Given the description of an element on the screen output the (x, y) to click on. 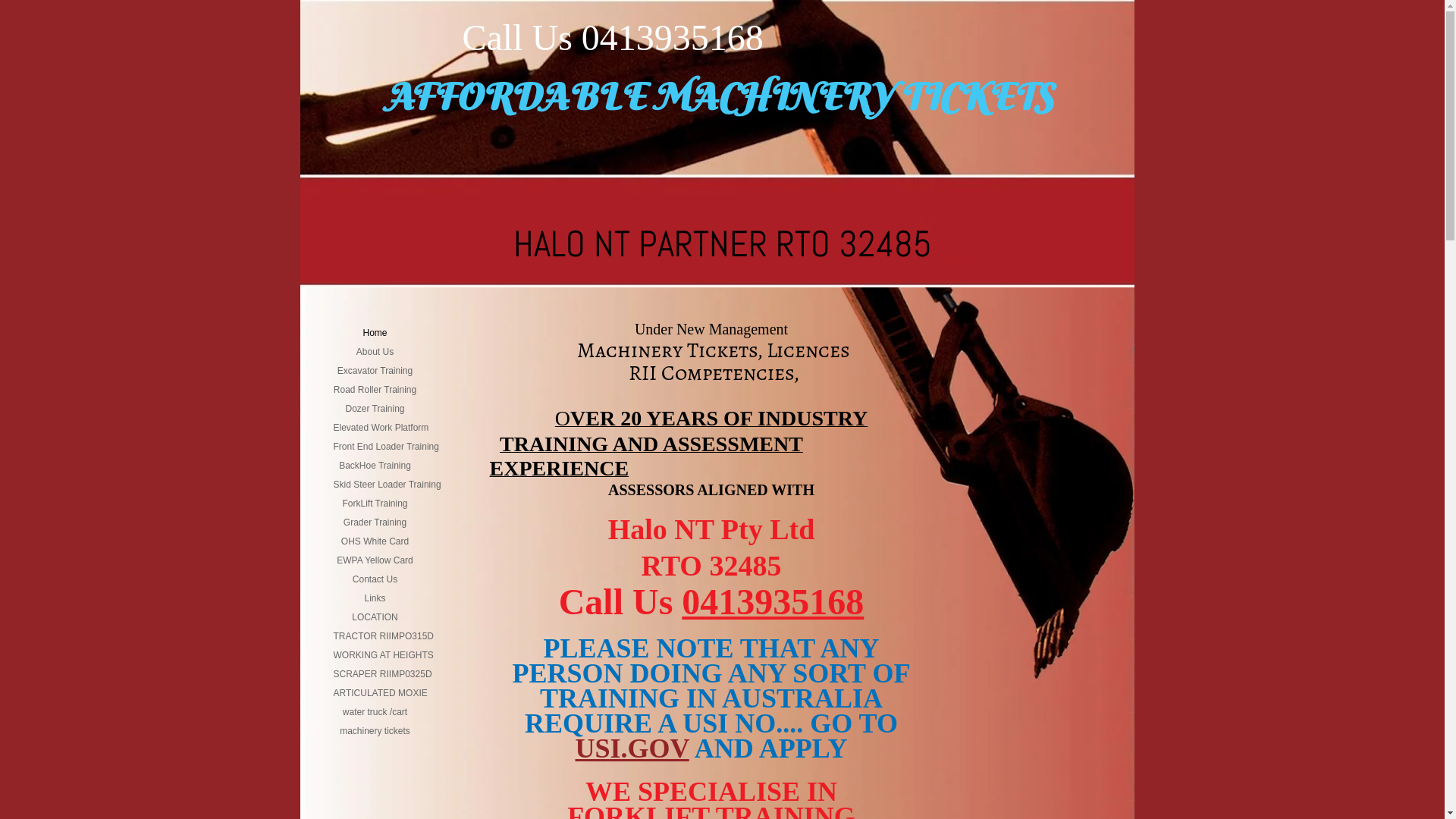
Links Element type: text (374, 597)
Grader Training Element type: text (374, 522)
Road Roller Training Element type: text (374, 389)
ARTICULATED MOXIE Element type: text (380, 692)
About Us Element type: text (374, 351)
TRACTOR RIIMPO315D Element type: text (383, 635)
Home Element type: text (374, 332)
ForkLift Training Element type: text (374, 503)
water truck /cart Element type: text (374, 711)
Elevated Work Platform Element type: text (381, 427)
WORKING AT HEIGHTS Element type: text (383, 654)
EWPA Yellow Card Element type: text (374, 560)
Skid Steer Loader Training Element type: text (387, 484)
Contact Us Element type: text (374, 579)
Dozer Training Element type: text (374, 408)
Front End Loader Training Element type: text (386, 446)
OHS White Card Element type: text (374, 541)
SCRAPER RIIMP0325D Element type: text (382, 673)
Excavator Training Element type: text (374, 370)
BackHoe Training Element type: text (374, 465)
machinery tickets Element type: text (374, 730)
LOCATION Element type: text (374, 616)
